Given the description of an element on the screen output the (x, y) to click on. 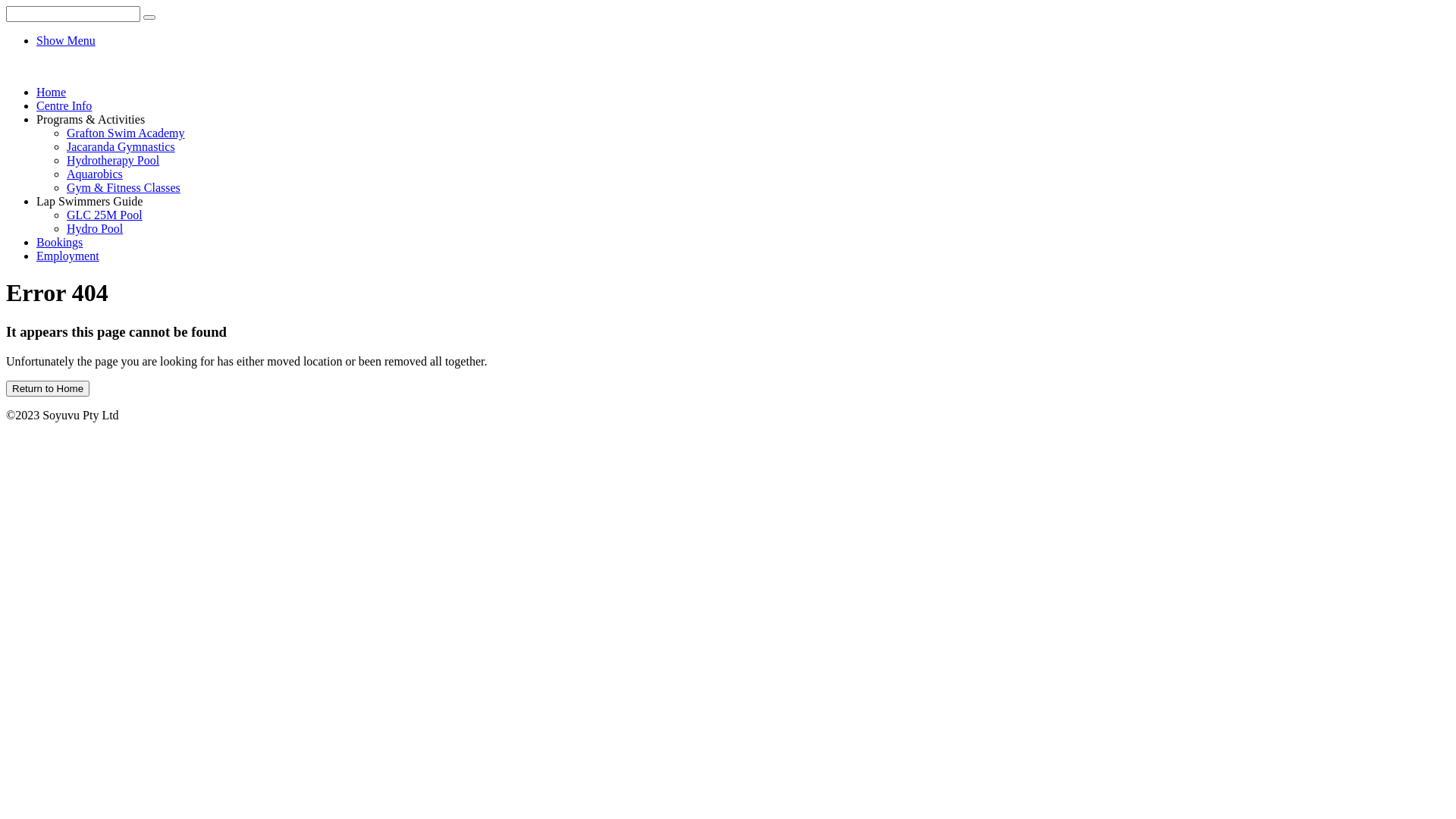
Hydrotherapy Pool Element type: text (112, 159)
Show Menu Element type: text (65, 40)
Hydro Pool Element type: text (94, 228)
Gym & Fitness Classes Element type: text (123, 187)
Grafton Swim Academy Element type: text (125, 132)
Home Element type: text (50, 91)
Return to Home Element type: text (47, 388)
Bookings Element type: text (59, 241)
Jacaranda Gymnastics Element type: text (120, 146)
Lap Swimmers Guide Element type: text (89, 200)
Employment Element type: text (67, 255)
Programs & Activities Element type: text (90, 118)
Aquarobics Element type: text (94, 173)
Centre Info Element type: text (63, 105)
GLC 25M Pool Element type: text (104, 214)
